Given the description of an element on the screen output the (x, y) to click on. 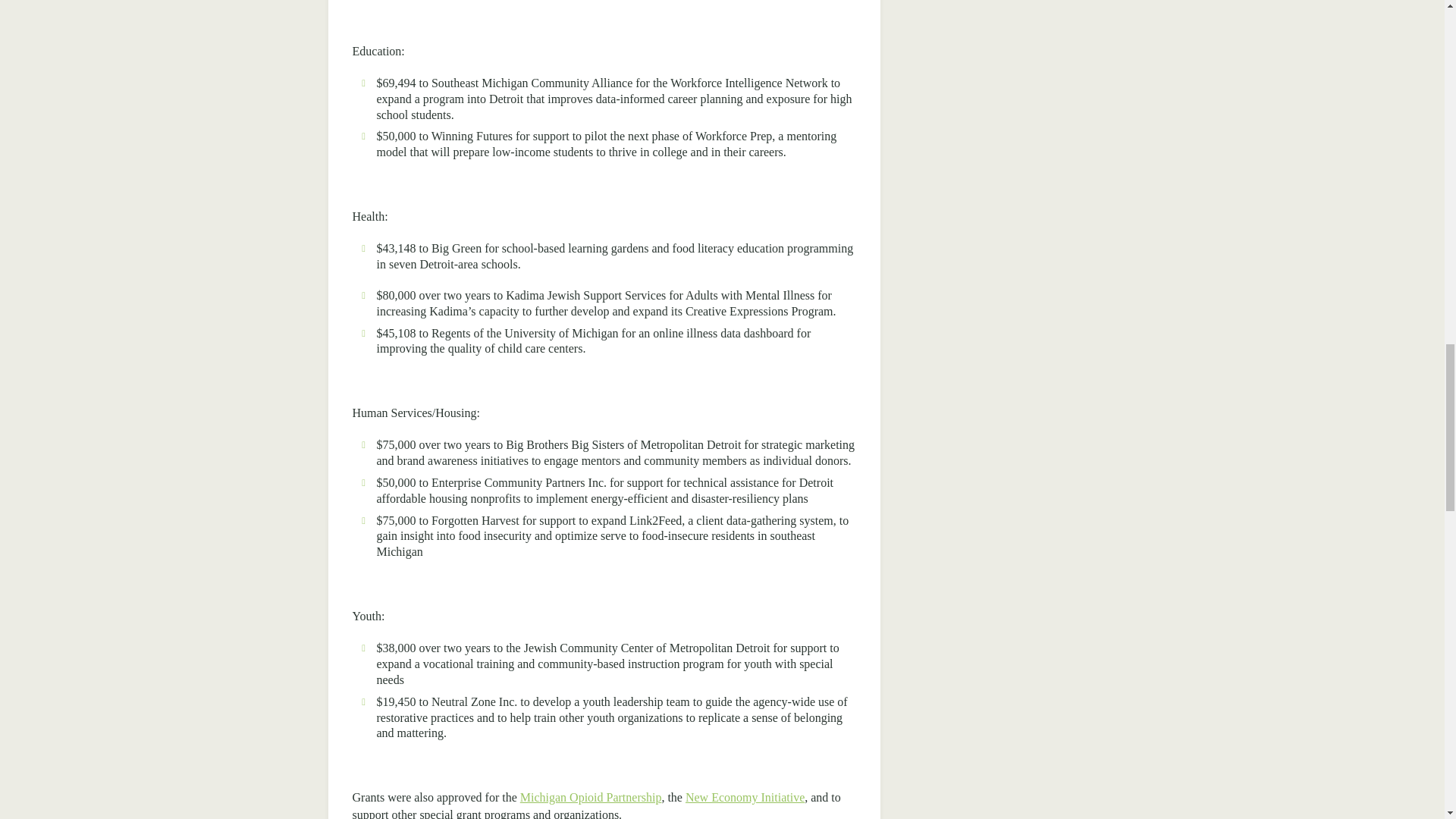
Michigan Opioid Partnership (590, 797)
